Given the description of an element on the screen output the (x, y) to click on. 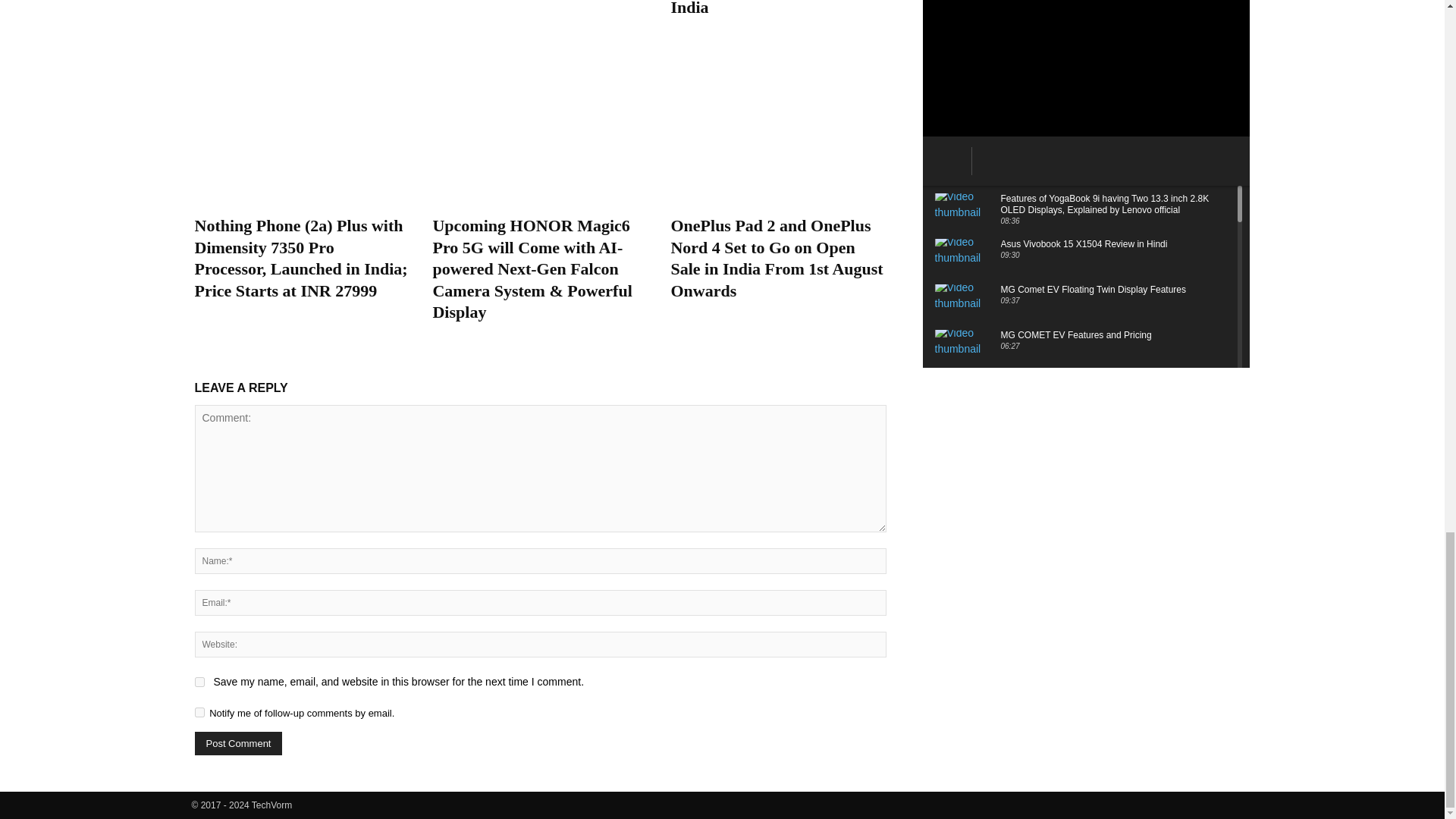
Post Comment (237, 743)
subscribe (198, 712)
yes (198, 682)
